Given the description of an element on the screen output the (x, y) to click on. 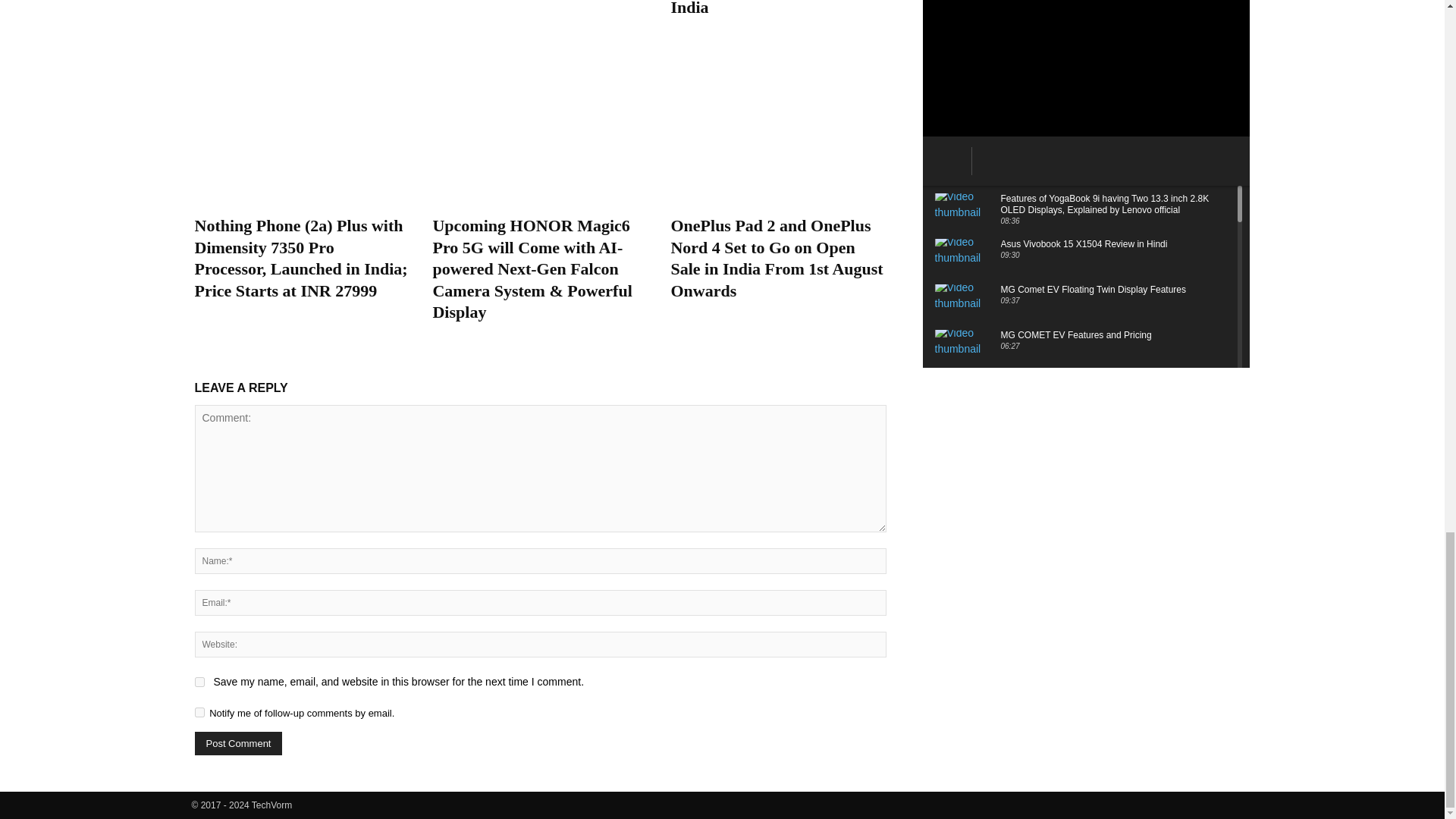
Post Comment (237, 743)
subscribe (198, 712)
yes (198, 682)
